Given the description of an element on the screen output the (x, y) to click on. 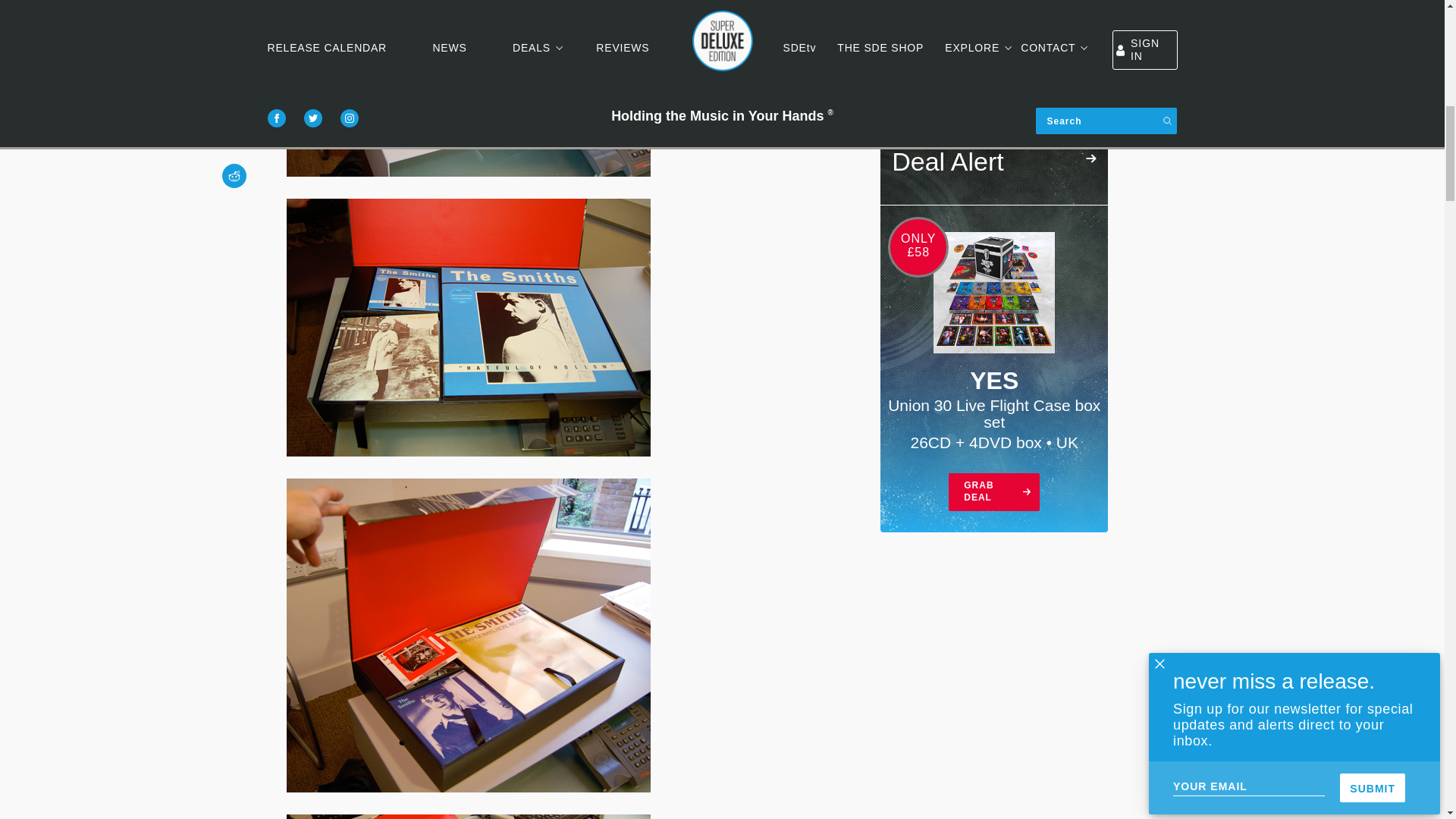
The Smiths Complete Box Set Exclusive FIRST pictures (468, 327)
The Smiths Complete Box Set Exclusive FIRST pictures (468, 88)
The Smiths Complete Box Set Exclusive FIRST pictures (468, 816)
The Smiths Complete Box Set Exclusive FIRST pictures (468, 635)
